Given the description of an element on the screen output the (x, y) to click on. 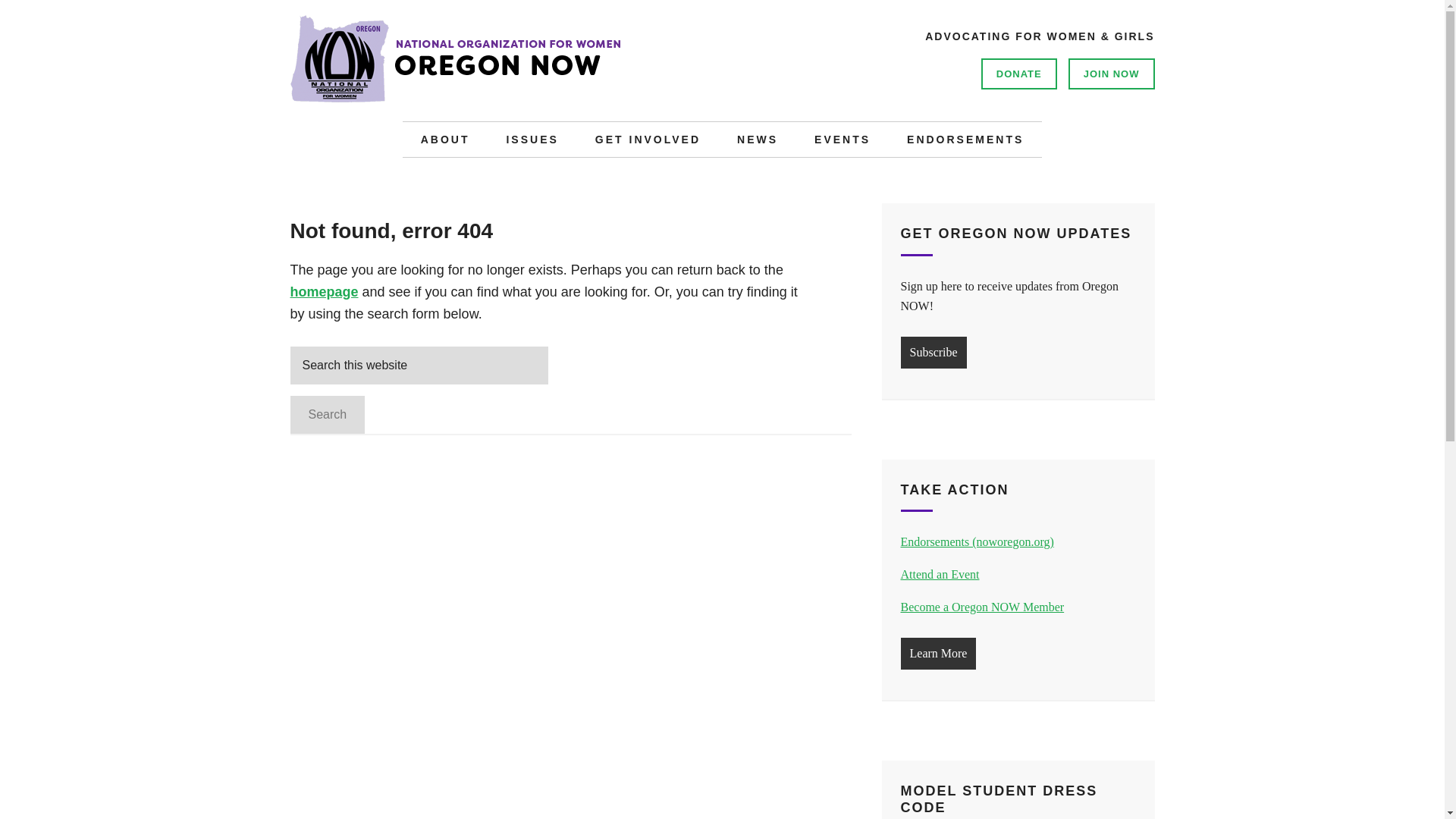
EVENTS (842, 139)
Search (327, 414)
Oregon NOW (516, 68)
GET INVOLVED (647, 139)
Become a Oregon NOW Member (982, 606)
Attend an Event (940, 574)
JOIN NOW (1111, 73)
NEWS (757, 139)
ABOUT (445, 139)
ENDORSEMENTS (965, 139)
